Given the description of an element on the screen output the (x, y) to click on. 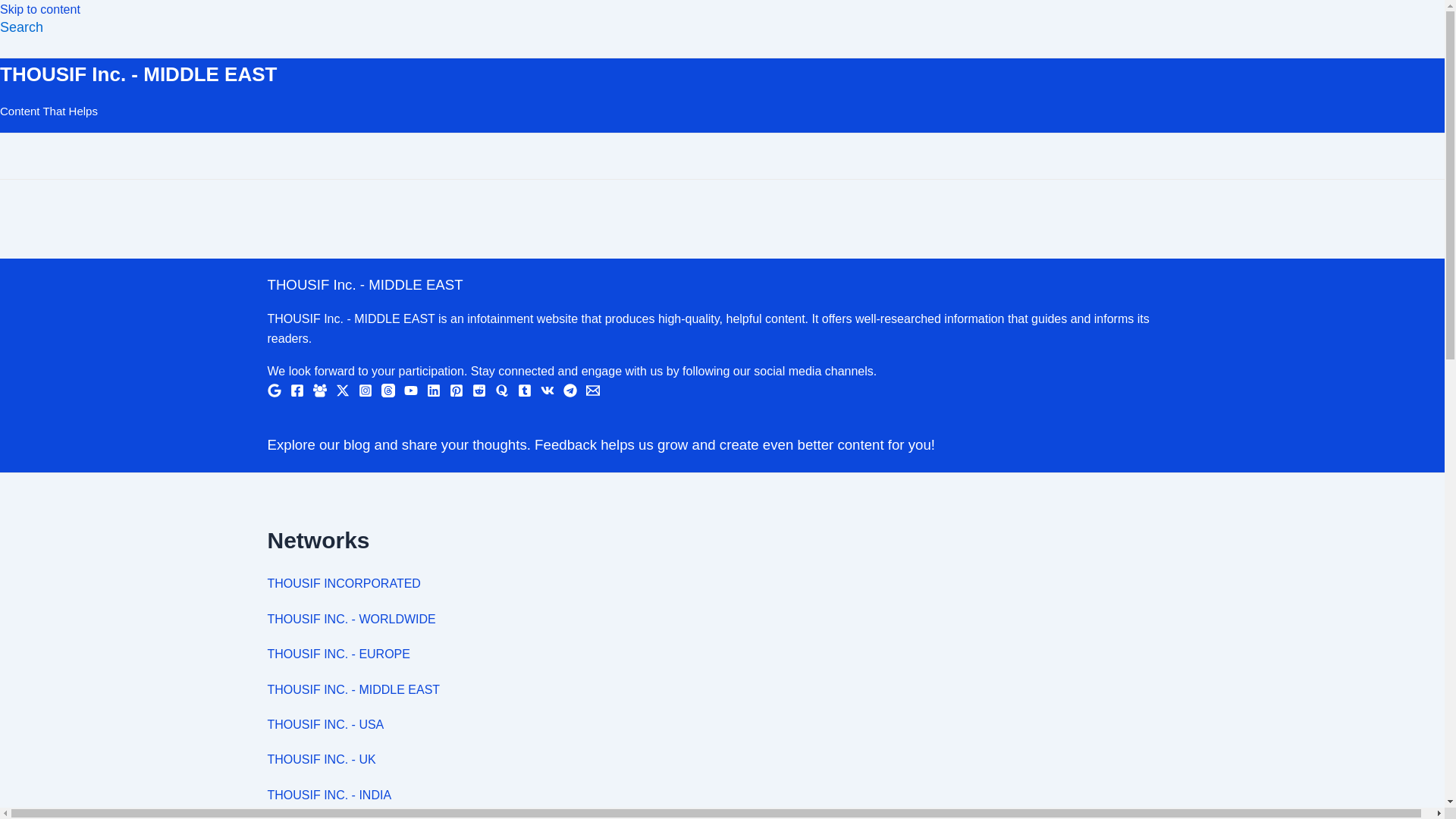
THOUSIF INCORPORATED (343, 583)
Email (591, 392)
Facebook Group (319, 390)
THOUSIF Inc. - MIDDLE EAST (138, 74)
Skip to content (40, 9)
THOUSIF INC. - INDIA (328, 794)
Search (21, 27)
THOUSIF INC. - EUROPE (337, 653)
THOUSIF INC. - USA (325, 724)
THOUSIF INC. - MIDDLE EAST (352, 689)
